Given the description of an element on the screen output the (x, y) to click on. 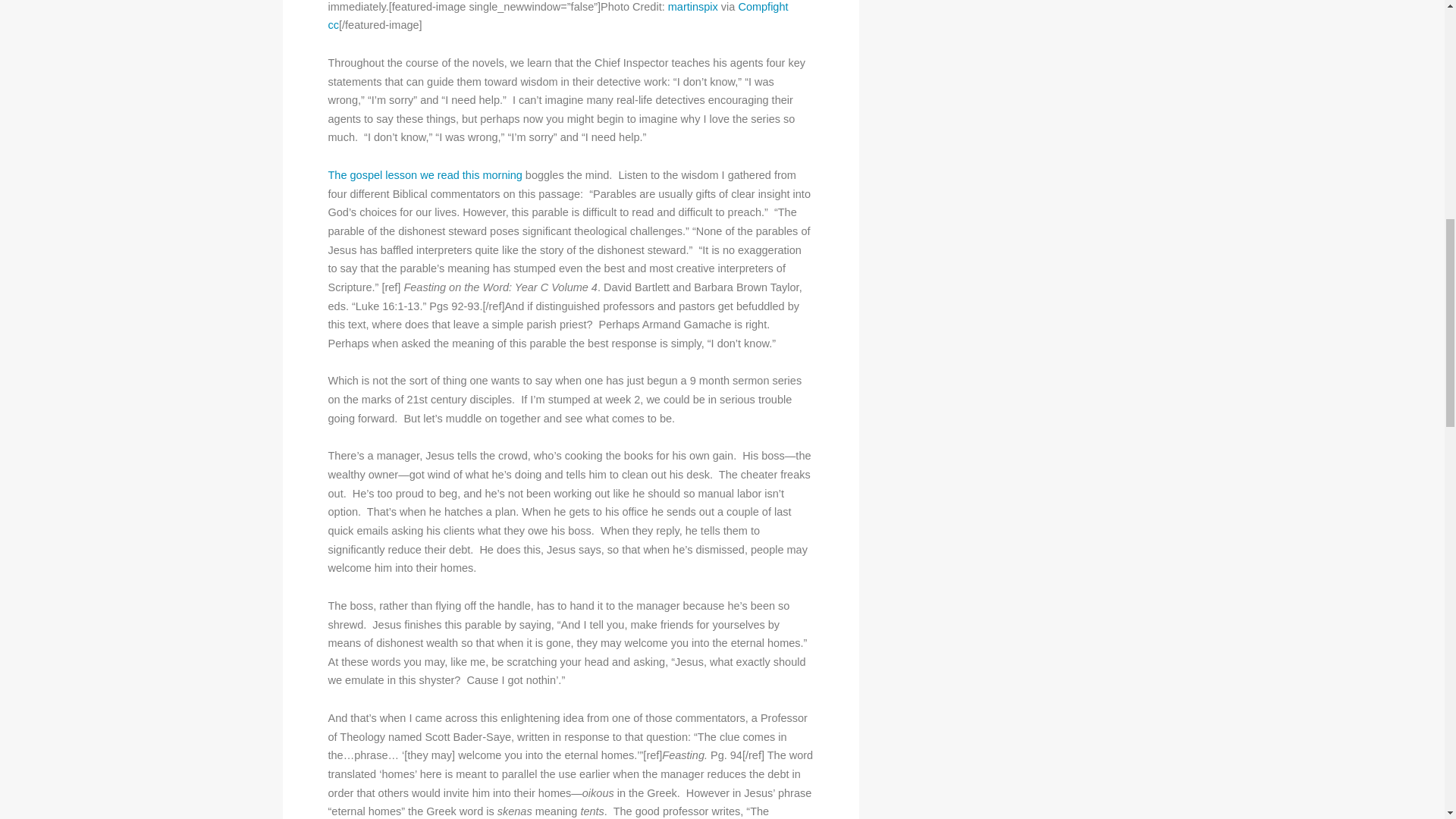
Compfight (762, 6)
cc (333, 24)
martinspix (692, 6)
The gospel lesson we read this morning (424, 174)
